Given the description of an element on the screen output the (x, y) to click on. 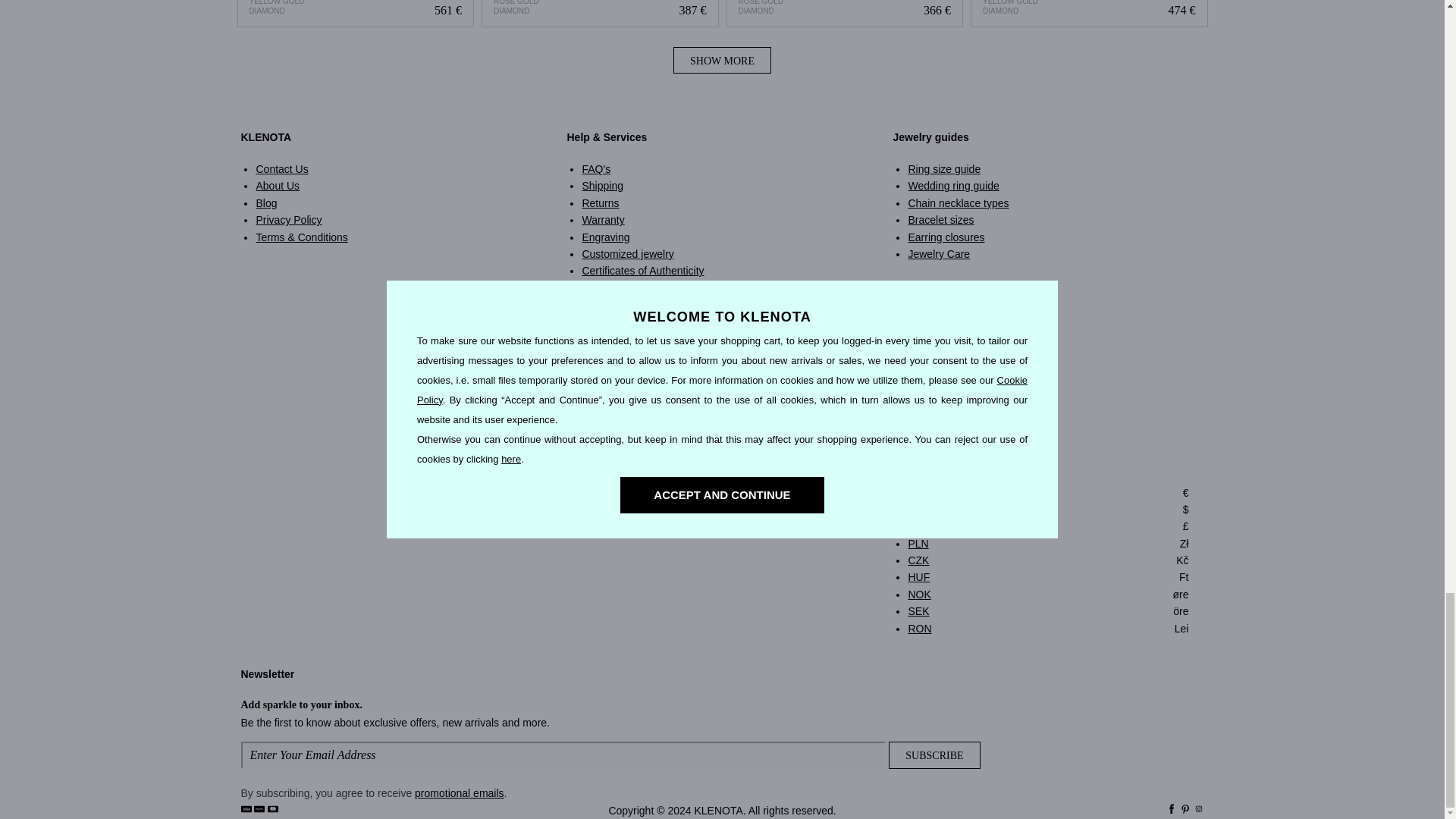
Sharmrock Diamond Pendant Earrings in Yellow Gold (1089, 13)
Heart-shaped Children's Earrings with Diamonds in Rose Gold (600, 13)
Diamond Children's Earrings (356, 13)
Sharmrock Diamond Pendant Earrings in Yellow Gold (1089, 13)
Heart-shaped Children's Earrings with Diamonds in Rose Gold (599, 13)
Diamond Children's Earrings (354, 13)
